Given the description of an element on the screen output the (x, y) to click on. 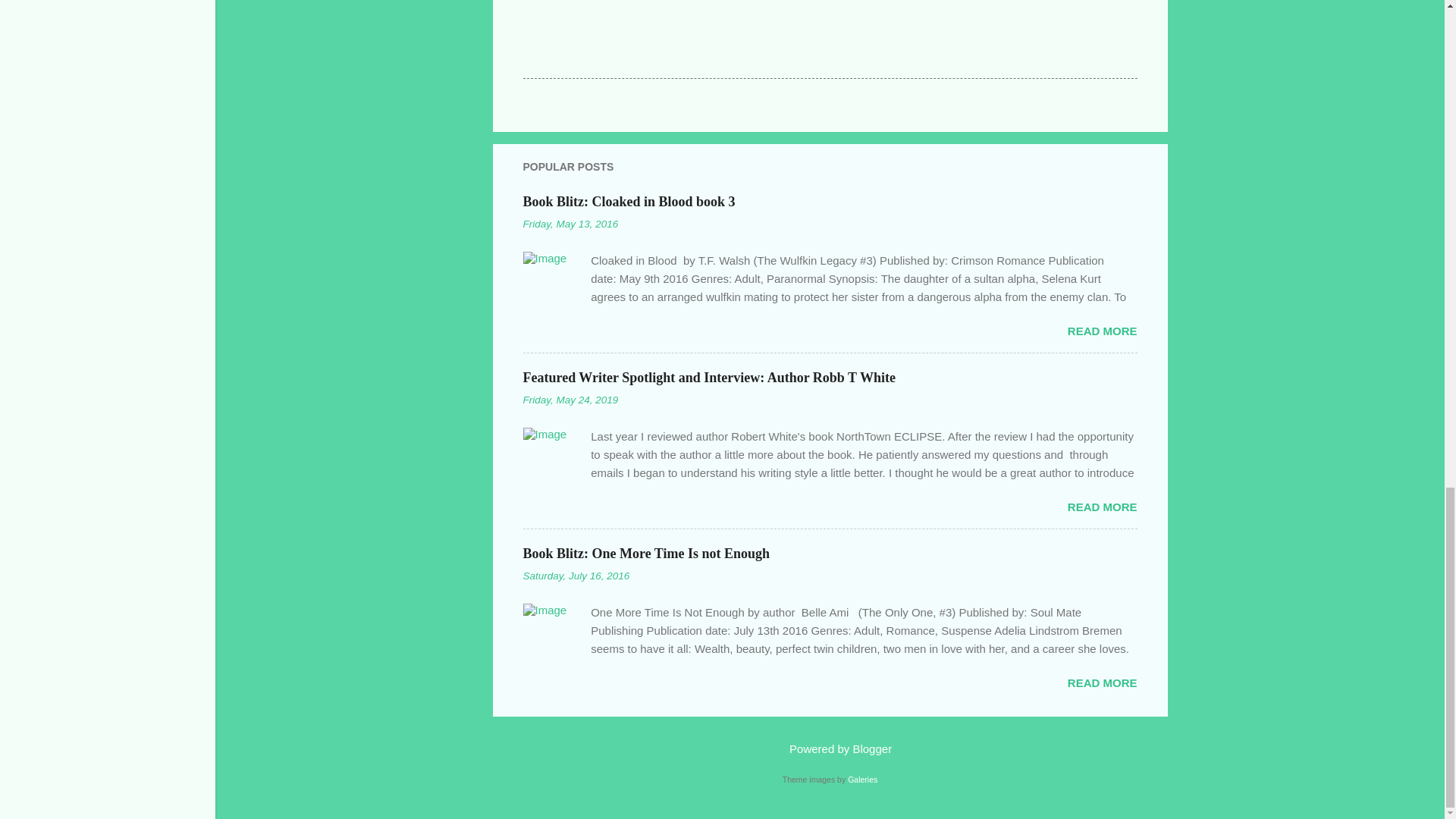
READ MORE (1102, 330)
Book Blitz: Cloaked in Blood book 3 (628, 201)
Book Blitz: One More Time Is not Enough (646, 553)
Book Blitz: Cloaked in Blood book 3 (1102, 330)
Featured Writer Spotlight and Interview: Author Robb T White (1102, 506)
Saturday, July 16, 2016 (576, 575)
permanent link (570, 399)
Friday, May 24, 2019 (570, 399)
permanent link (576, 575)
READ MORE (1102, 506)
